Given the description of an element on the screen output the (x, y) to click on. 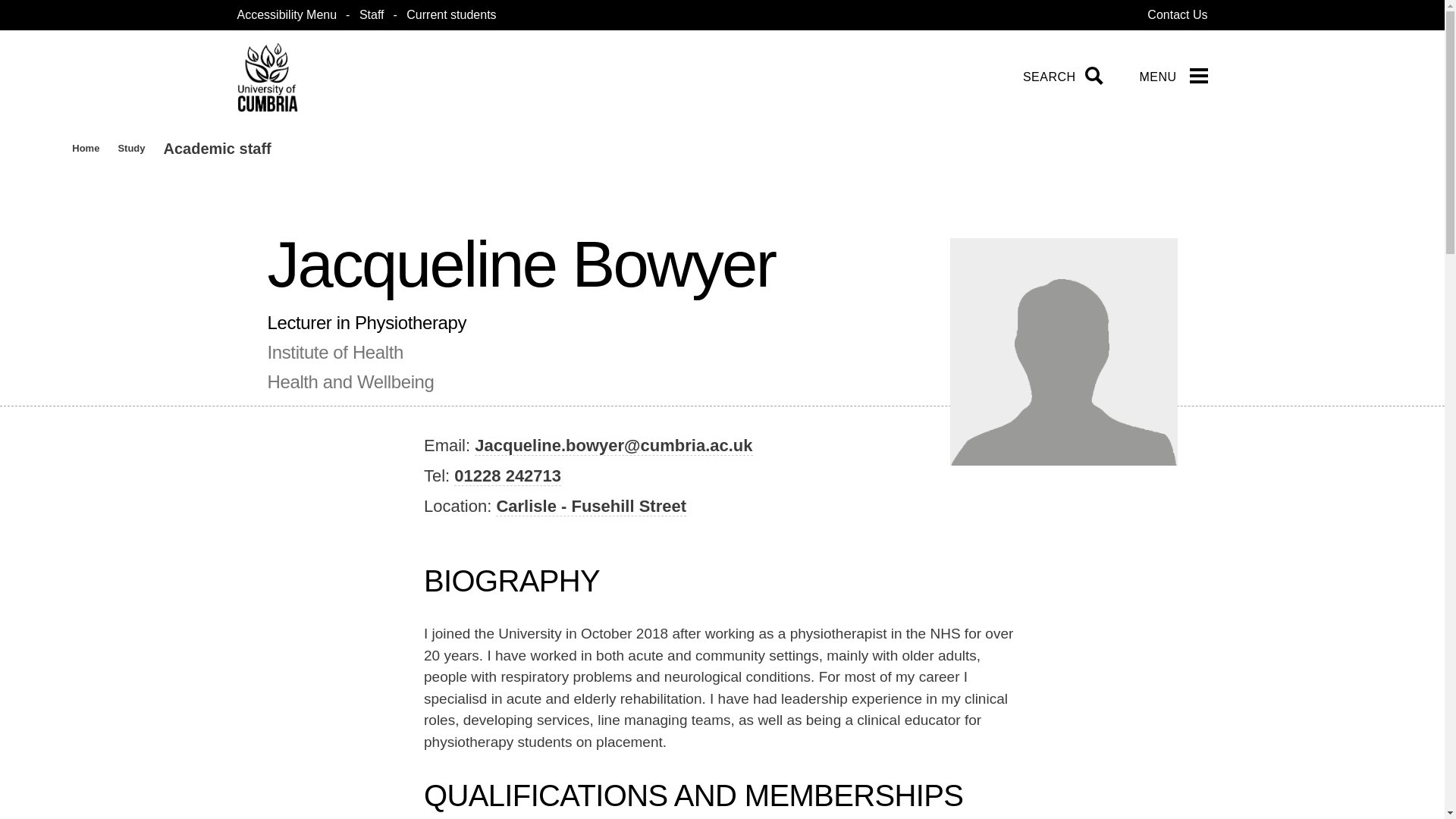
Staff (371, 14)
Contact Us (1177, 14)
MENU (1174, 76)
Accessibility Menu (285, 14)
SEARCH (1059, 77)
Current students (451, 14)
